Given the description of an element on the screen output the (x, y) to click on. 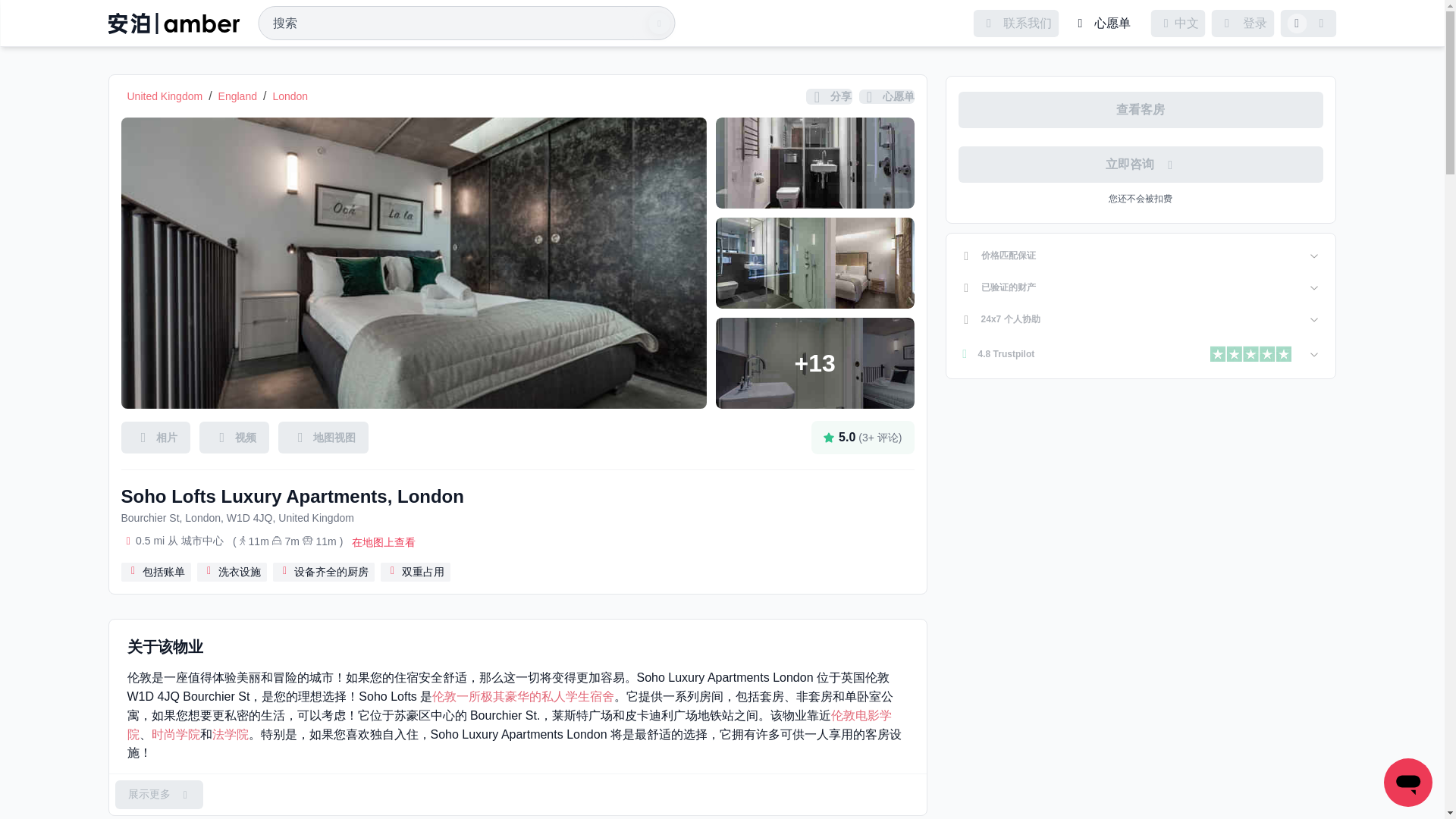
England (237, 95)
United Kingdom (164, 95)
London (290, 95)
